Given the description of an element on the screen output the (x, y) to click on. 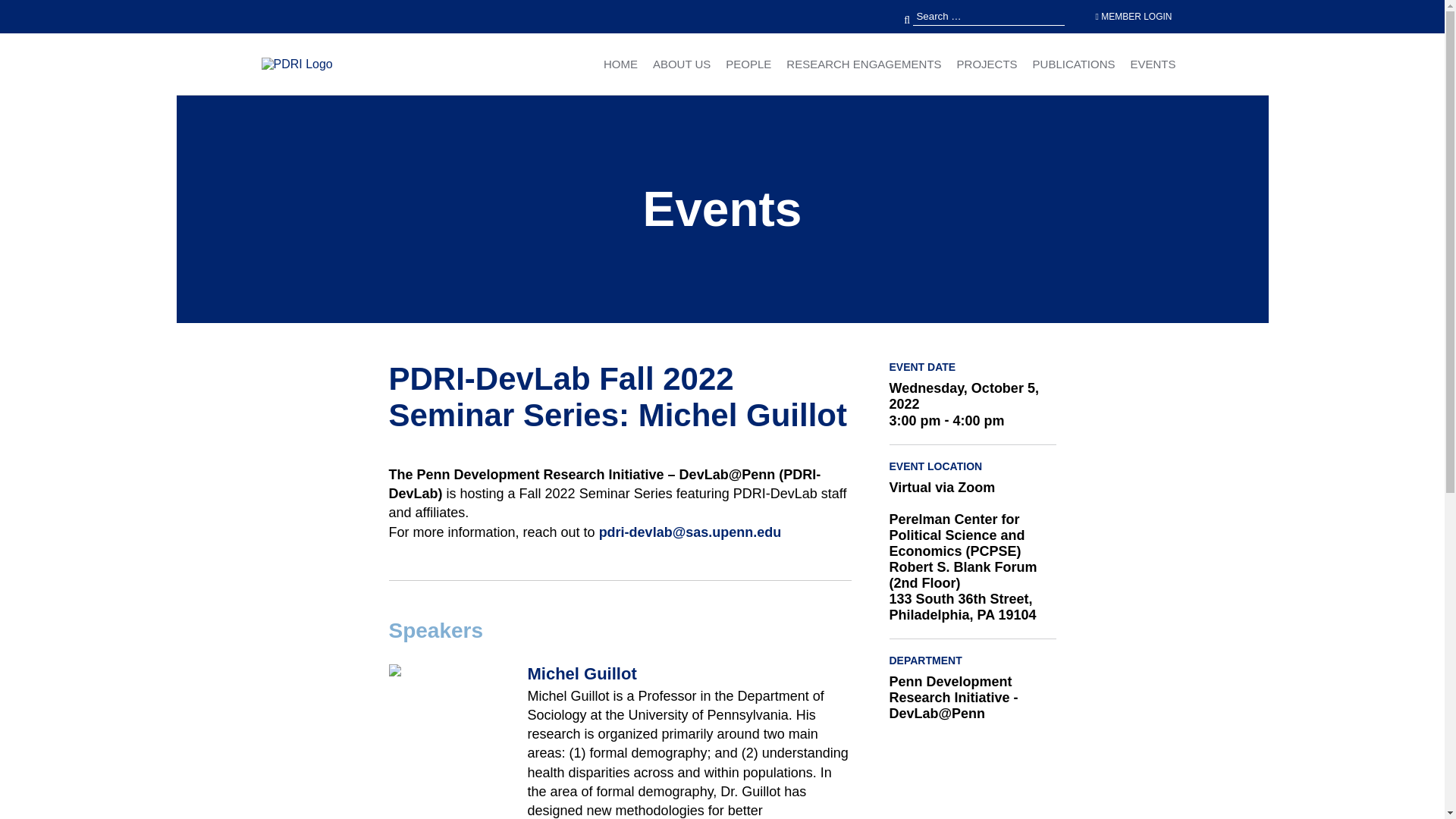
EVENTS (1151, 64)
HOME (620, 64)
PROJECTS (986, 64)
RESEARCH ENGAGEMENTS (863, 64)
PEOPLE (748, 64)
Search (43, 11)
PUBLICATIONS (1073, 64)
ABOUT US (681, 64)
MEMBER LOGIN (1133, 16)
